Given the description of an element on the screen output the (x, y) to click on. 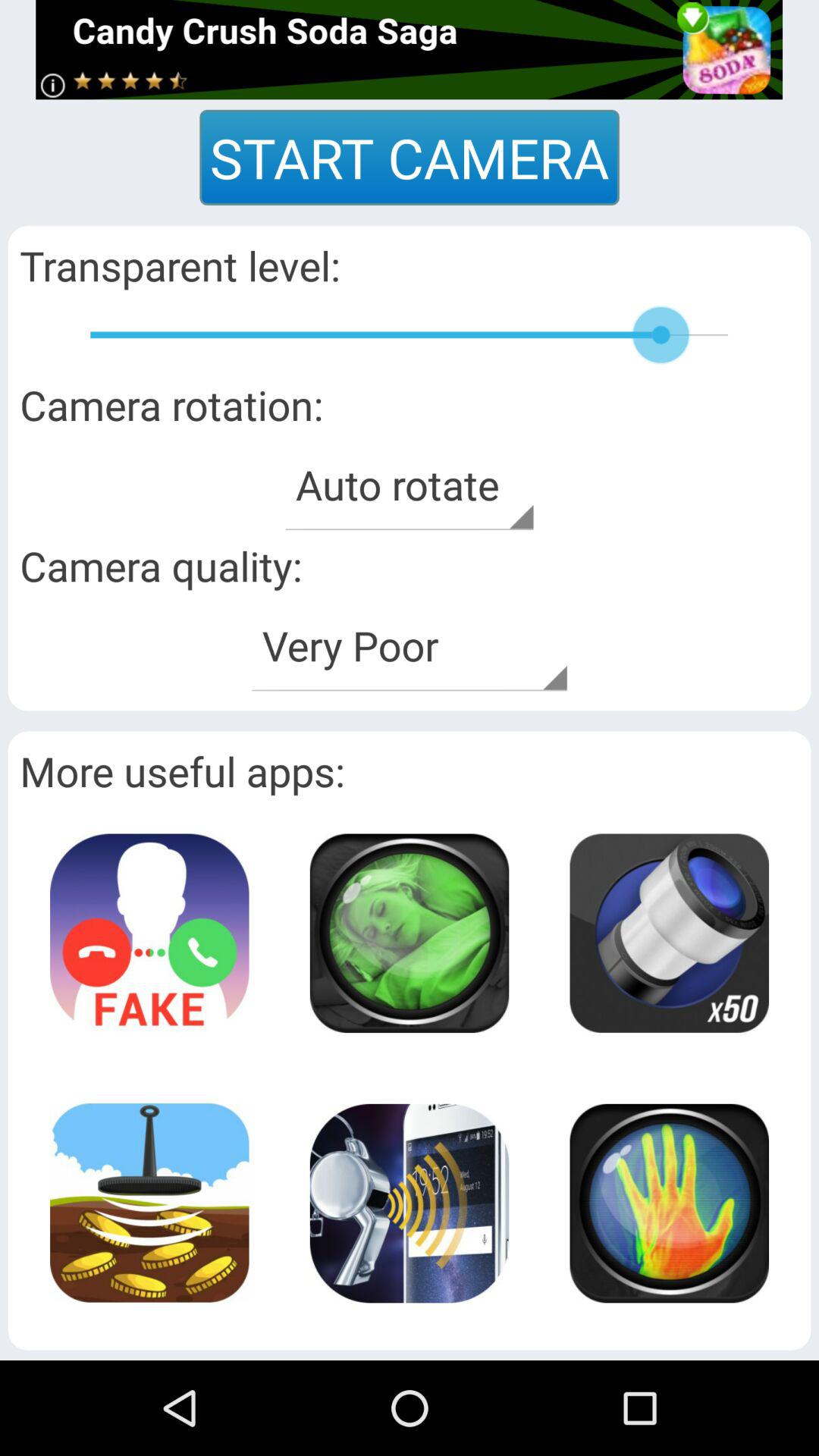
advertisement page (408, 49)
